Given the description of an element on the screen output the (x, y) to click on. 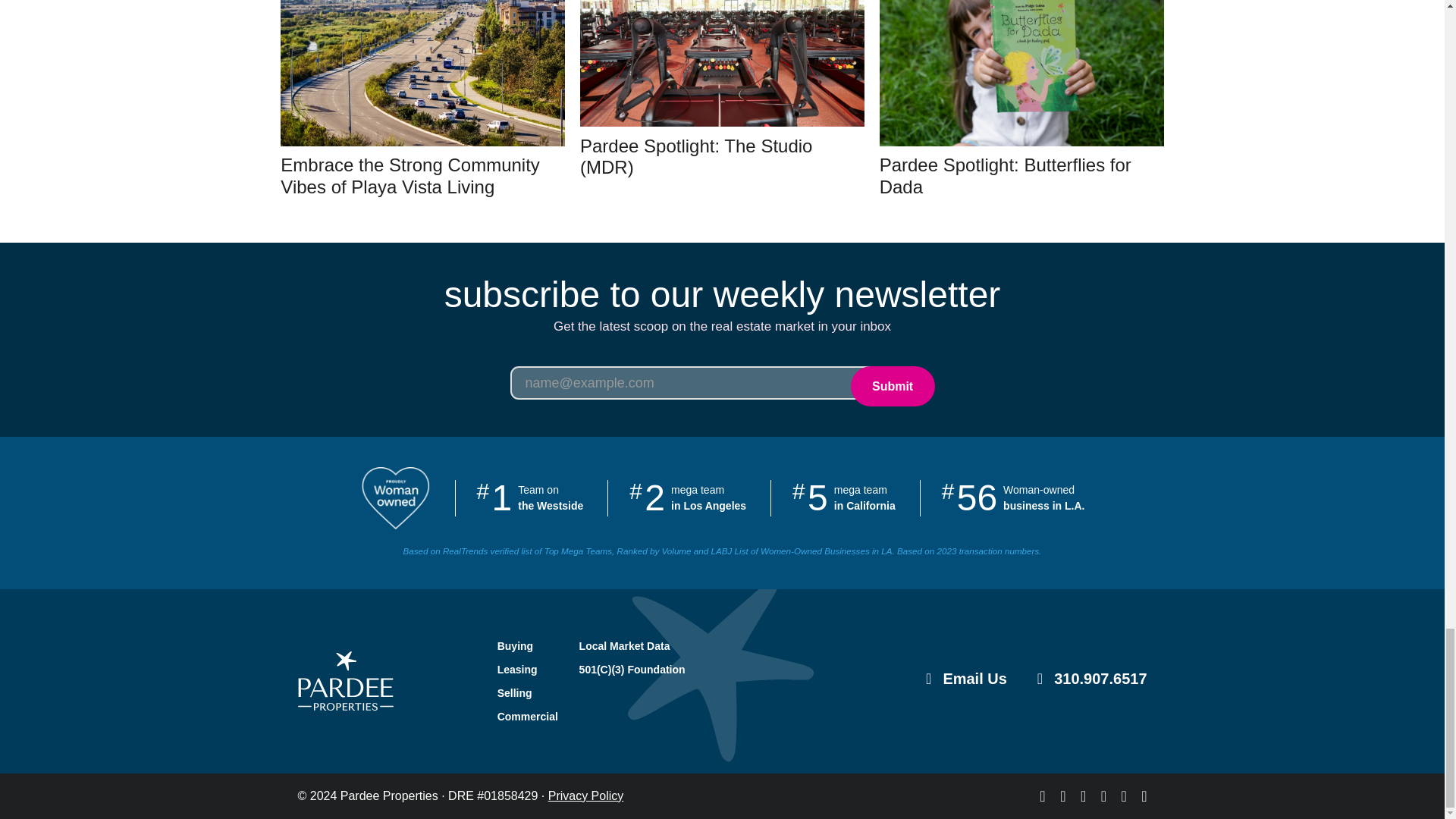
Selling (517, 692)
Privacy Policy (586, 795)
Commercial (517, 716)
310.907.6517 (1100, 678)
Submit (892, 386)
Buying (517, 645)
Leasing (517, 669)
Email Us (974, 678)
Pardee Properties (345, 680)
Embrace the Strong Community Vibes of Playa Vista Living (409, 175)
